Given the description of an element on the screen output the (x, y) to click on. 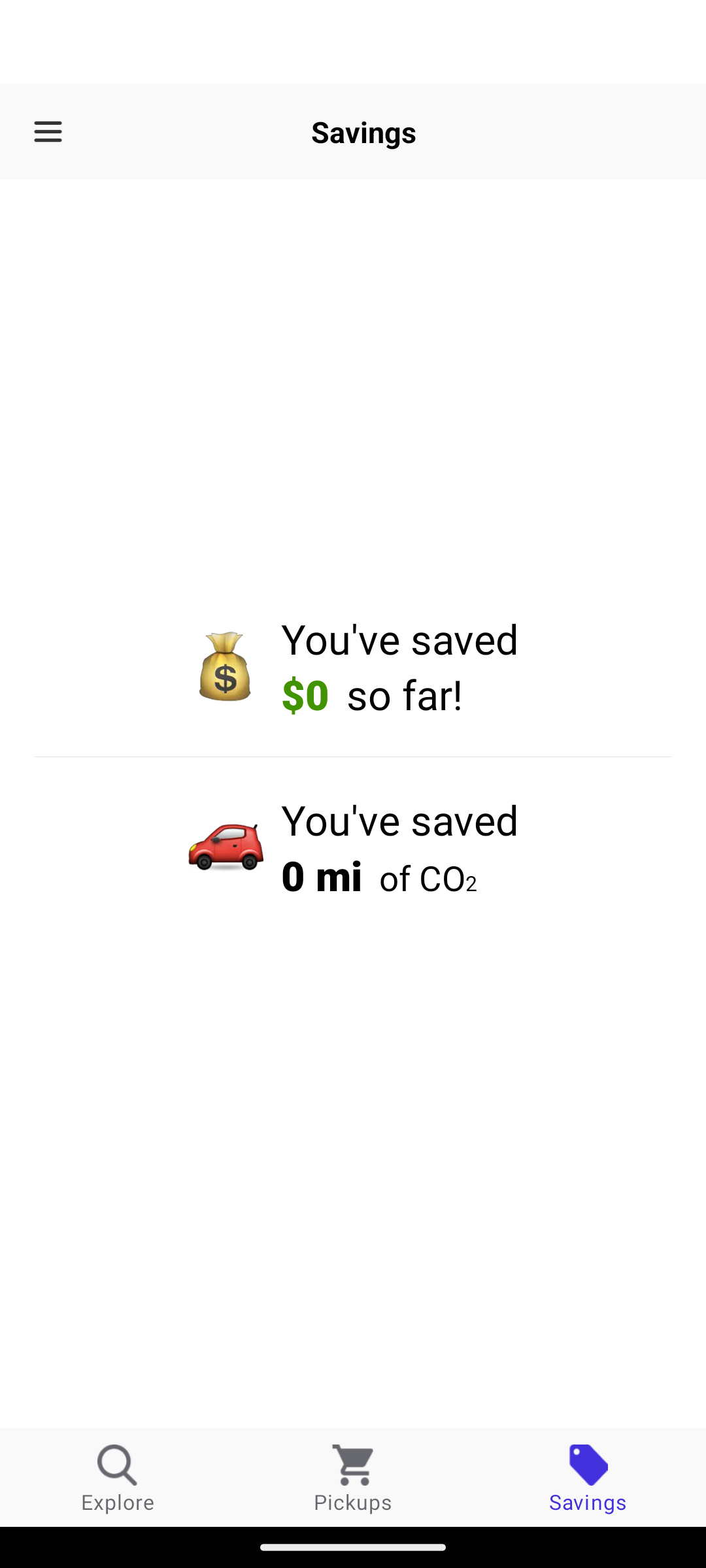
Navigate up (48, 131)
Explore (117, 1478)
Pickups (352, 1478)
